Given the description of an element on the screen output the (x, y) to click on. 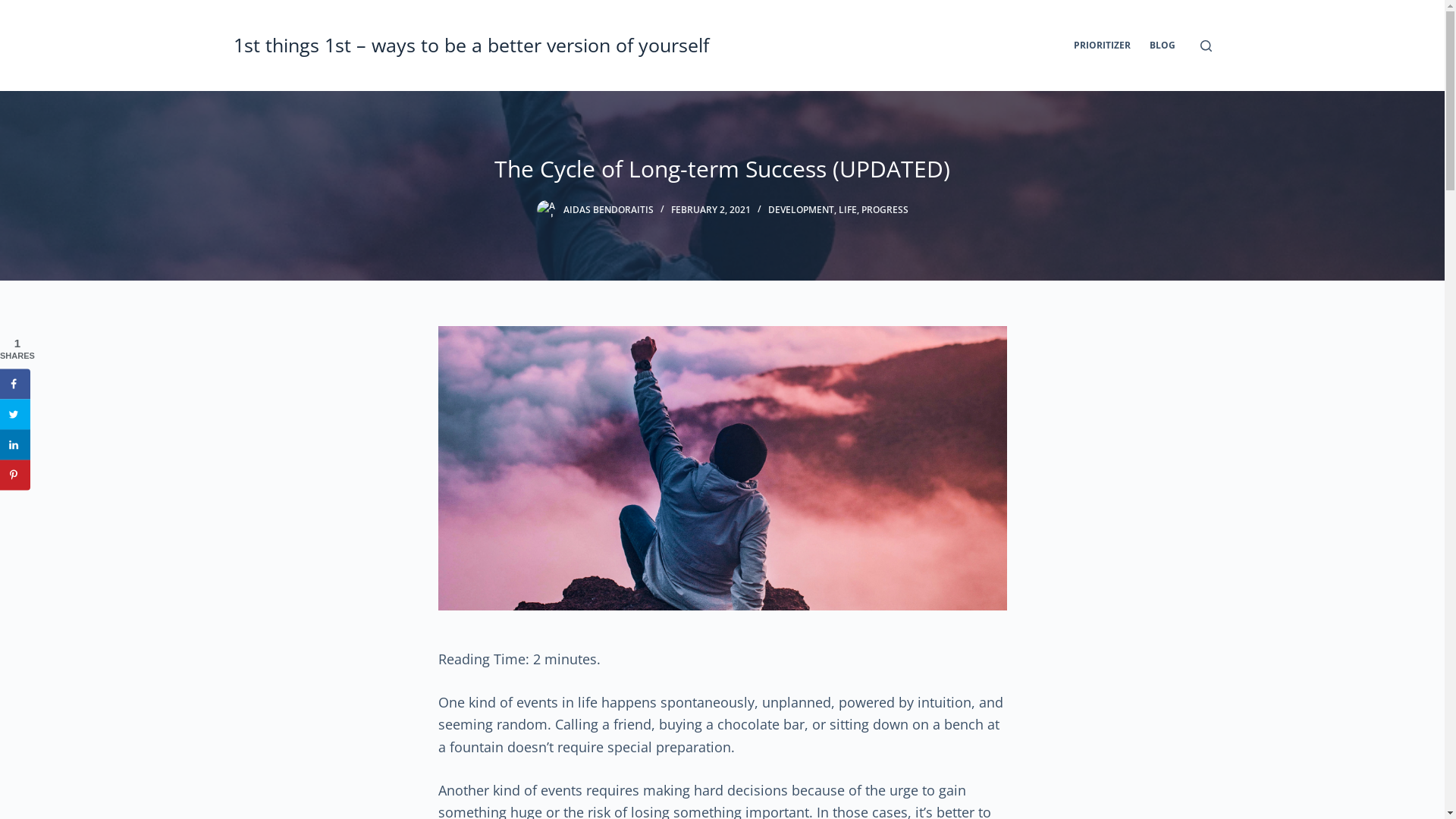
Share on Facebook Element type: hover (15, 383)
Share on Twitter Element type: hover (15, 413)
Share on LinkedIn Element type: hover (15, 444)
Skip to content Element type: text (15, 7)
PRIORITIZER Element type: text (1102, 45)
Save to Pinterest Element type: hover (15, 474)
DEVELOPMENT Element type: text (800, 209)
LIFE Element type: text (847, 209)
BLOG Element type: text (1162, 45)
PROGRESS Element type: text (884, 209)
AIDAS BENDORAITIS Element type: text (607, 209)
